Given the description of an element on the screen output the (x, y) to click on. 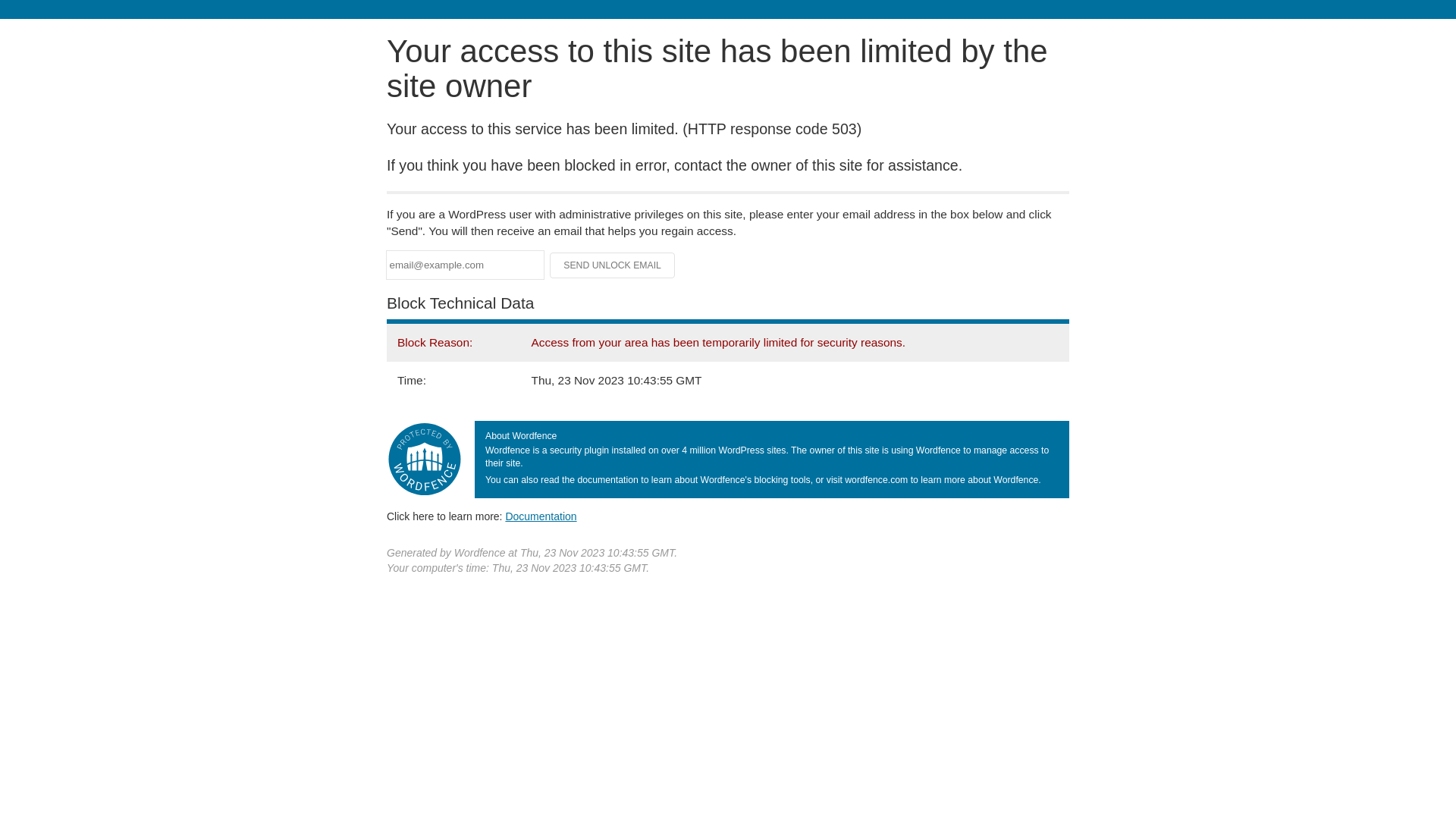
Send Unlock Email Element type: text (612, 265)
Documentation Element type: text (540, 516)
